Given the description of an element on the screen output the (x, y) to click on. 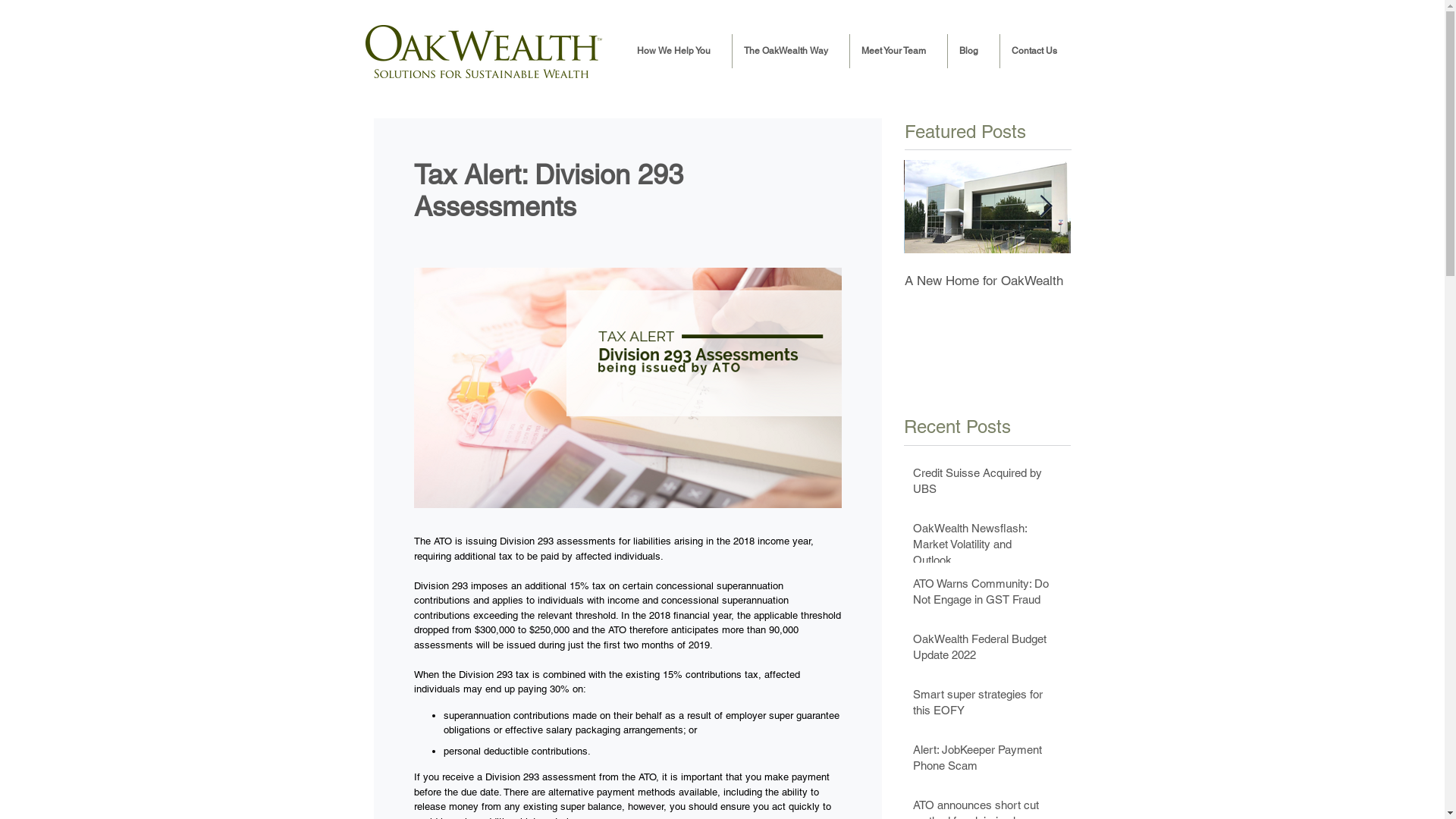
How We Help You Element type: text (677, 51)
A New Home for OakWealth Element type: text (1153, 280)
OakWealth Newsflash: Market Volatility and Outlook Element type: text (982, 547)
Contact Us Element type: text (1037, 51)
OakWealth Federal Budget Update 2022 Element type: text (982, 649)
ATO Warns Community: Do Not Engage in GST Fraud Element type: text (982, 594)
OakWealth + Solutions For Sustainable Wealth 15x4.5cm.png Element type: hover (483, 51)
Our 2019 End of Year Client Seminar Element type: text (986, 288)
Credit Suisse Acquired by UBS Element type: text (982, 483)
Smart super strategies for this EOFY Element type: text (982, 705)
Alert: JobKeeper Payment Phone Scam Element type: text (982, 760)
